Given the description of an element on the screen output the (x, y) to click on. 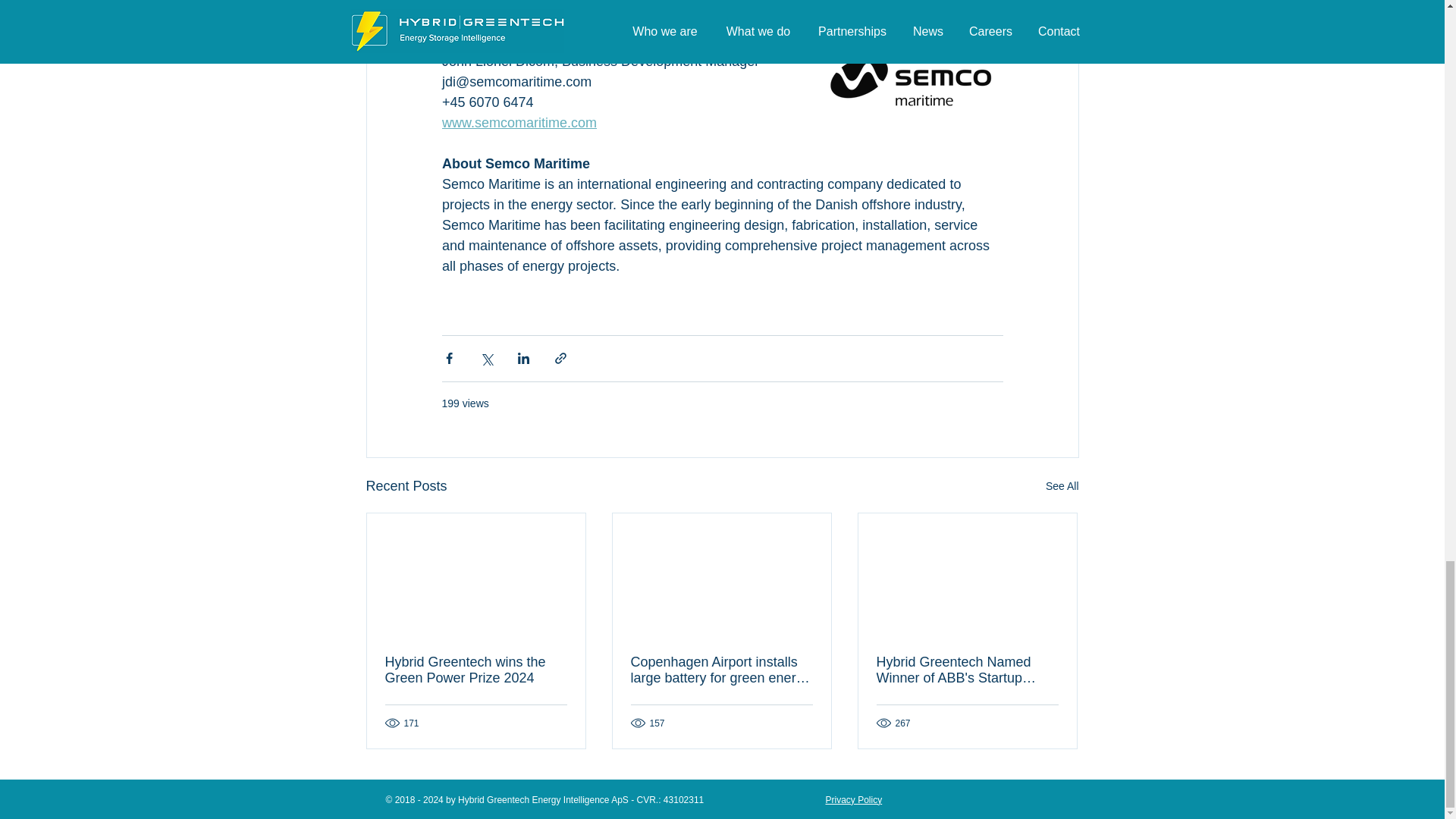
Privacy Policy (853, 799)
Hybrid Greentech wins the Green Power Prize 2024 (476, 670)
See All (1061, 486)
www.semcomaritime.com (518, 122)
